Given the description of an element on the screen output the (x, y) to click on. 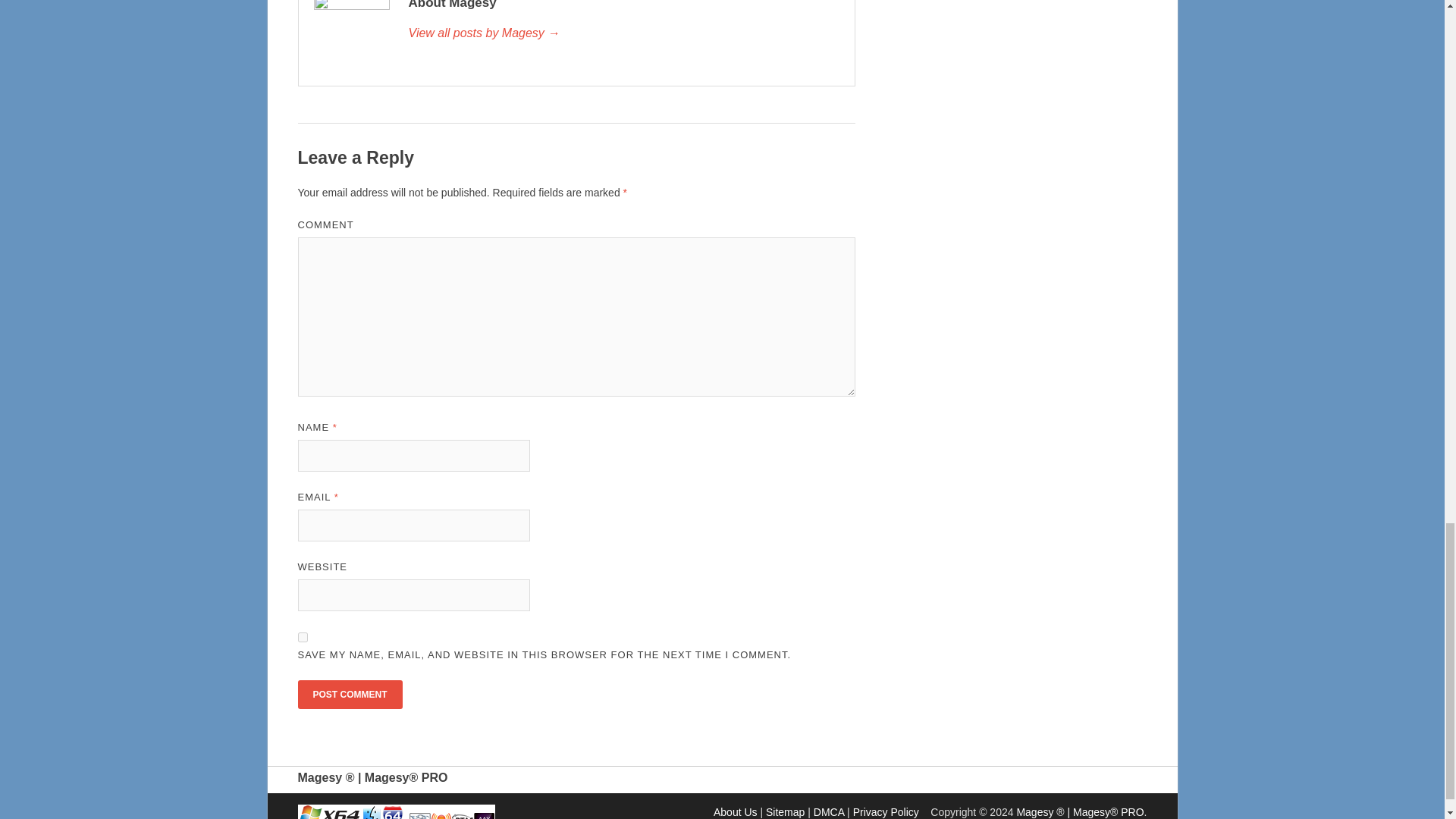
Magesy (622, 33)
Post Comment (349, 694)
yes (302, 637)
